Given the description of an element on the screen output the (x, y) to click on. 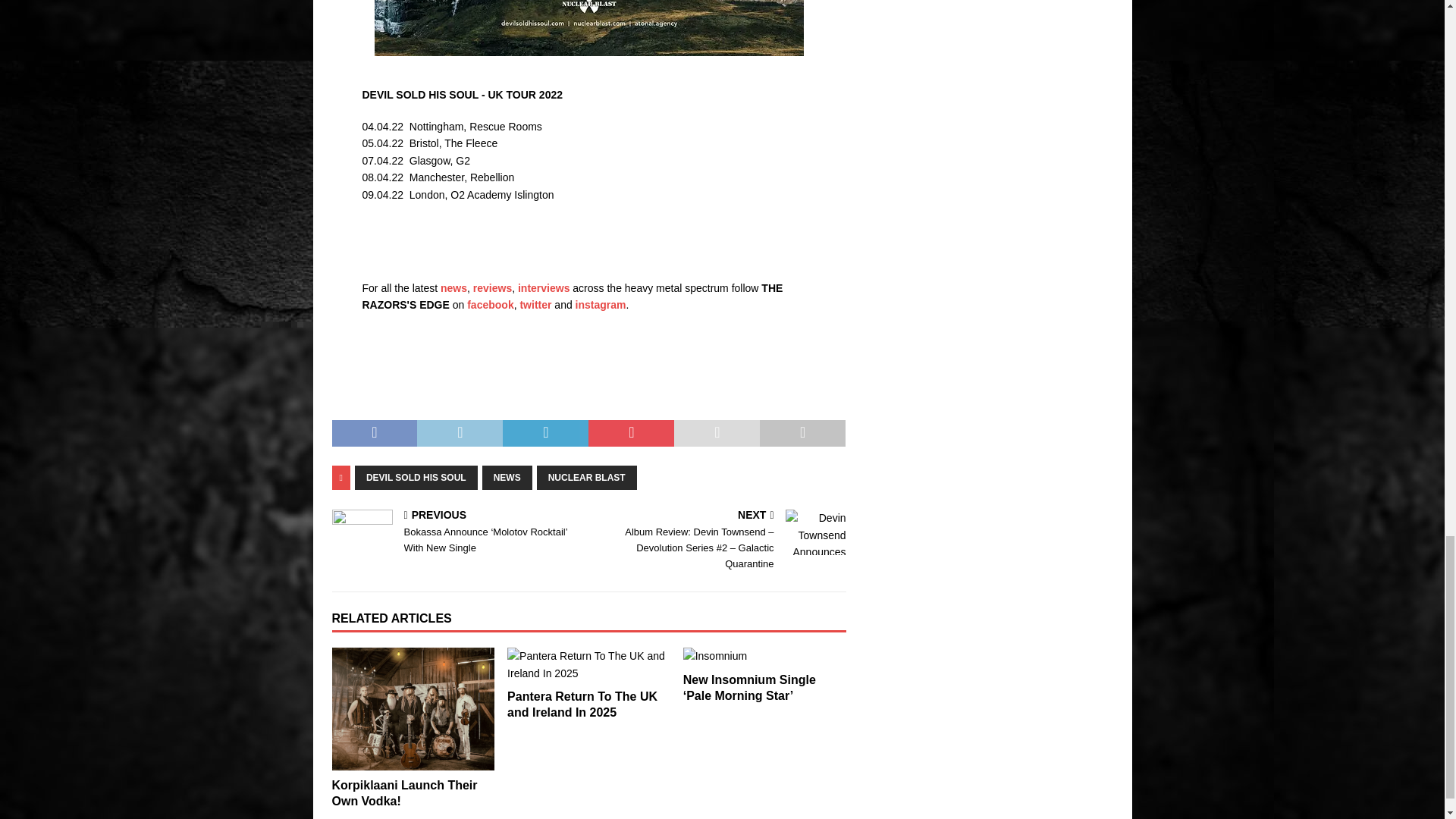
Pantera Return To The UK and Ireland In 2025 (587, 664)
Pantera Return To The UK and Ireland In 2025 (582, 704)
twitter (535, 304)
interviews (543, 287)
reviews (492, 287)
Korpiklaani Launch Their Own Vodka! (404, 792)
DEVIL SOLD HIS SOUL (416, 477)
NEWS (506, 477)
facebook (490, 304)
instagram (600, 304)
